Given the description of an element on the screen output the (x, y) to click on. 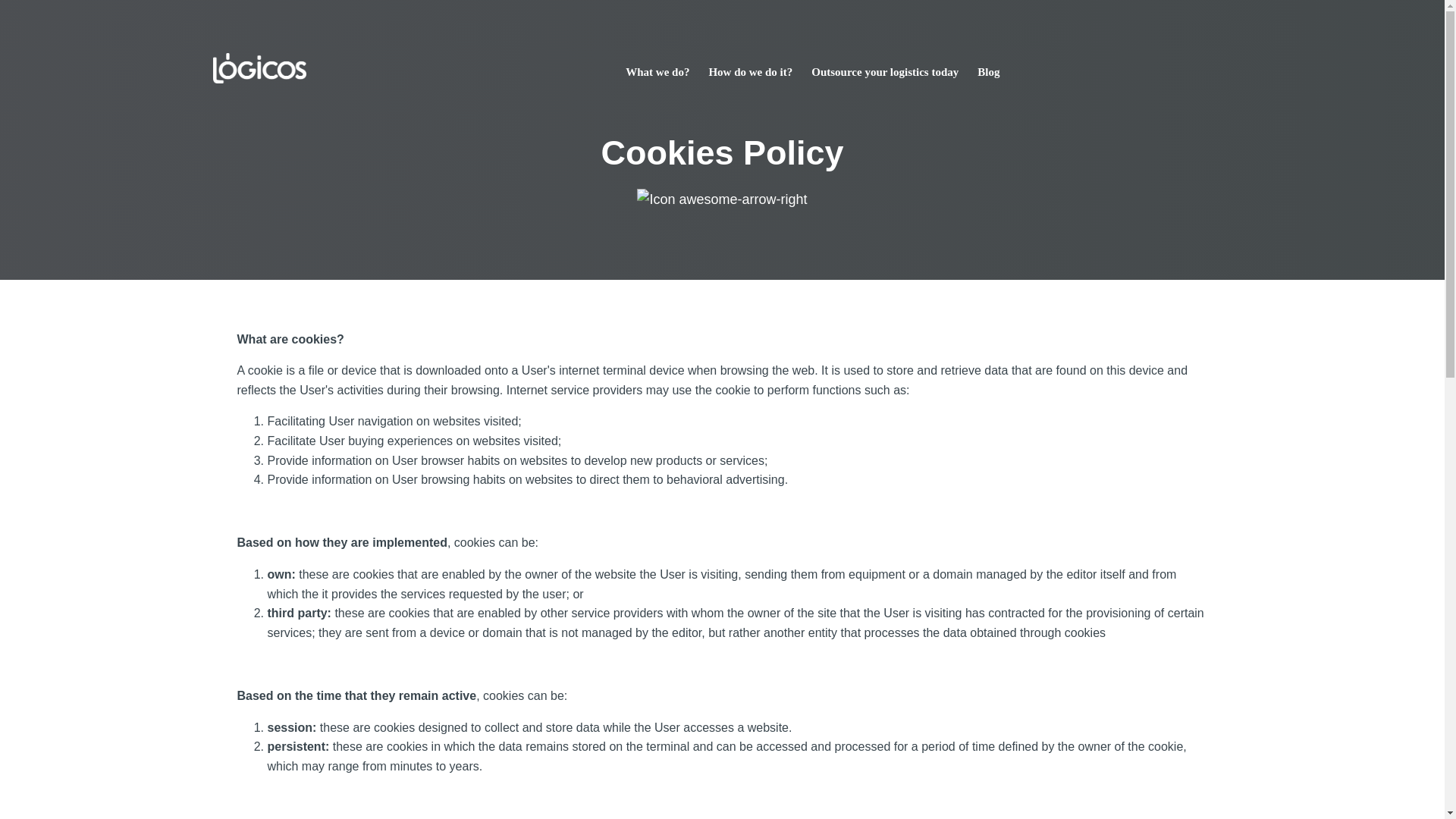
What we do? (657, 72)
How do we do it? (749, 72)
Outsource your logistics today (884, 72)
Blog (987, 72)
logoLogicosBlancoSinFondo (258, 68)
